Given the description of an element on the screen output the (x, y) to click on. 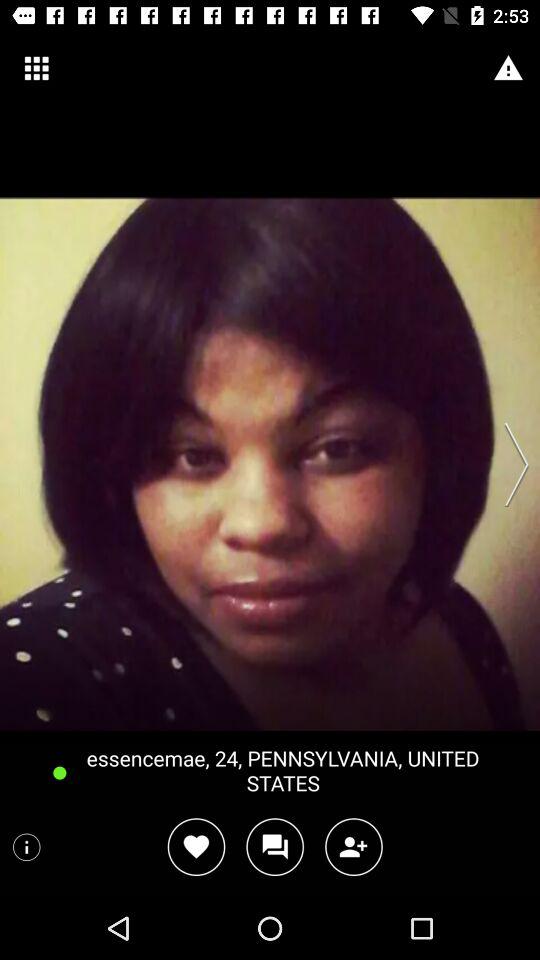
click the instruction (26, 847)
